Given the description of an element on the screen output the (x, y) to click on. 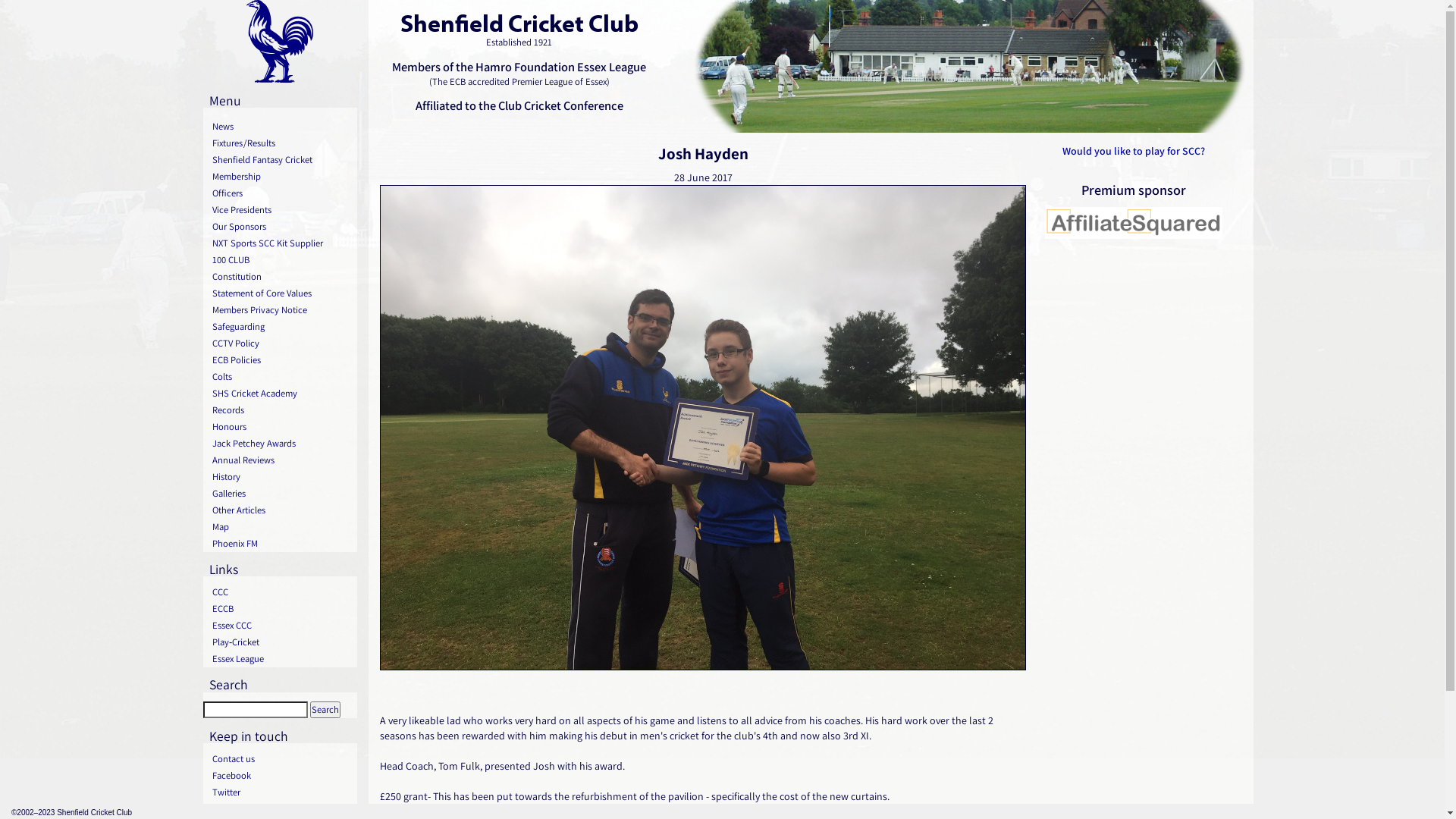
Records Element type: text (280, 410)
Membership Element type: text (280, 176)
Colts Element type: text (280, 376)
CCTV Policy Element type: text (280, 343)
Twitter Element type: text (280, 792)
Would you like to play for SCC? Element type: text (1133, 150)
Search Element type: text (324, 709)
ECCB Element type: text (280, 608)
Jack Petchey Awards Element type: text (280, 443)
Shenfield Fantasy Cricket Element type: text (280, 159)
Vice Presidents Element type: text (280, 209)
Contact us Element type: text (280, 758)
Safeguarding Element type: text (280, 326)
Our Sponsors Element type: text (280, 226)
Honours Element type: text (280, 426)
Map Element type: text (280, 526)
History Element type: text (280, 476)
Phoenix FM Element type: text (280, 543)
Essex League Element type: text (280, 658)
SHS Cricket Academy Element type: text (280, 393)
Officers Element type: text (280, 193)
Annual Reviews Element type: text (280, 460)
Galleries Element type: text (280, 493)
ECB Policies Element type: text (280, 360)
100 CLUB Element type: text (280, 259)
NXT Sports SCC Kit Supplier Element type: text (280, 243)
Members Privacy Notice Element type: text (280, 309)
News Element type: text (280, 126)
CCC Element type: text (280, 592)
Essex CCC Element type: text (280, 625)
Statement of Core Values Element type: text (280, 293)
Instagram Element type: text (280, 808)
Constitution Element type: text (280, 276)
Other Articles Element type: text (280, 510)
Facebook Element type: text (280, 775)
